Given the description of an element on the screen output the (x, y) to click on. 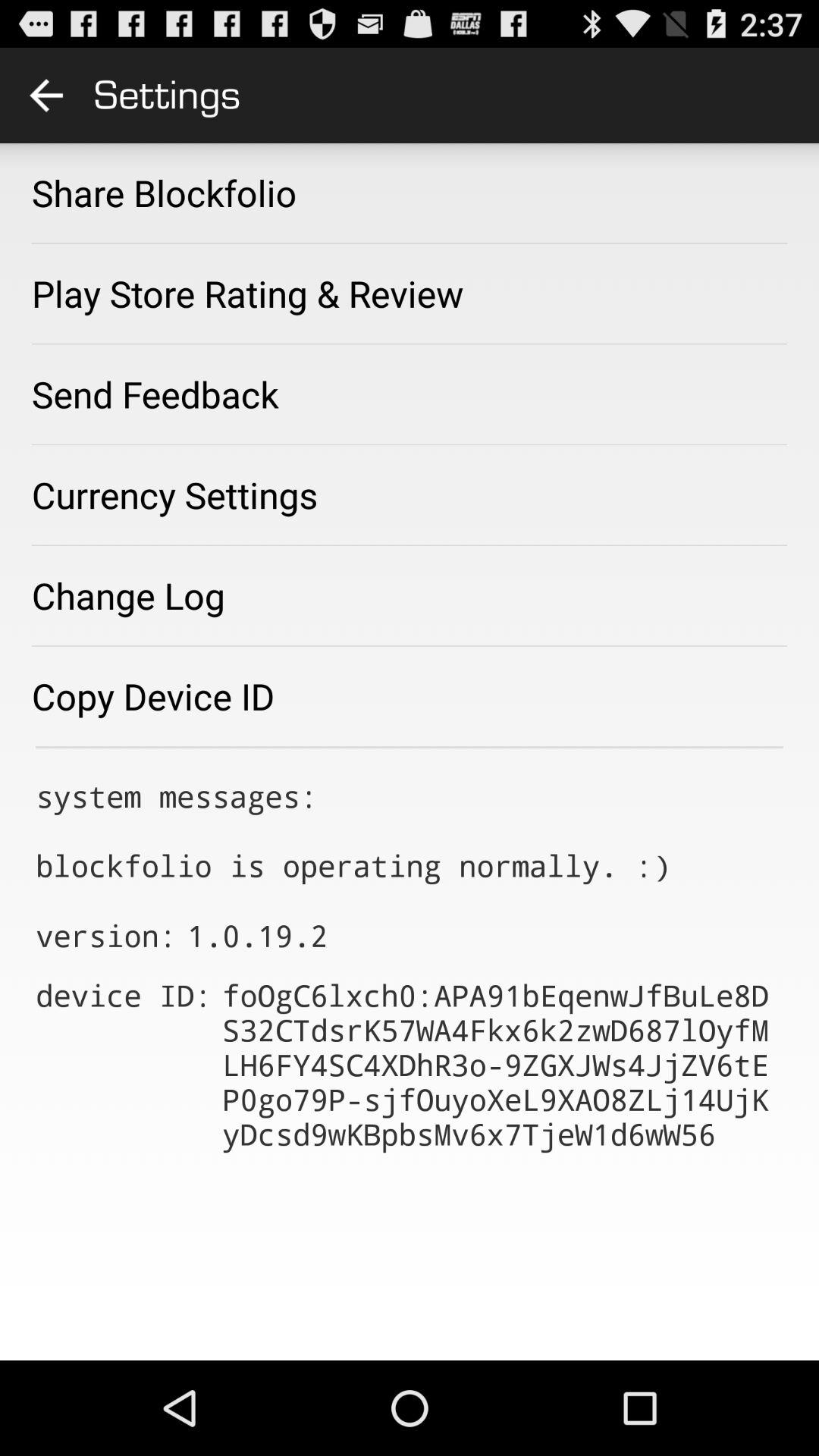
flip until send feedback app (154, 393)
